Given the description of an element on the screen output the (x, y) to click on. 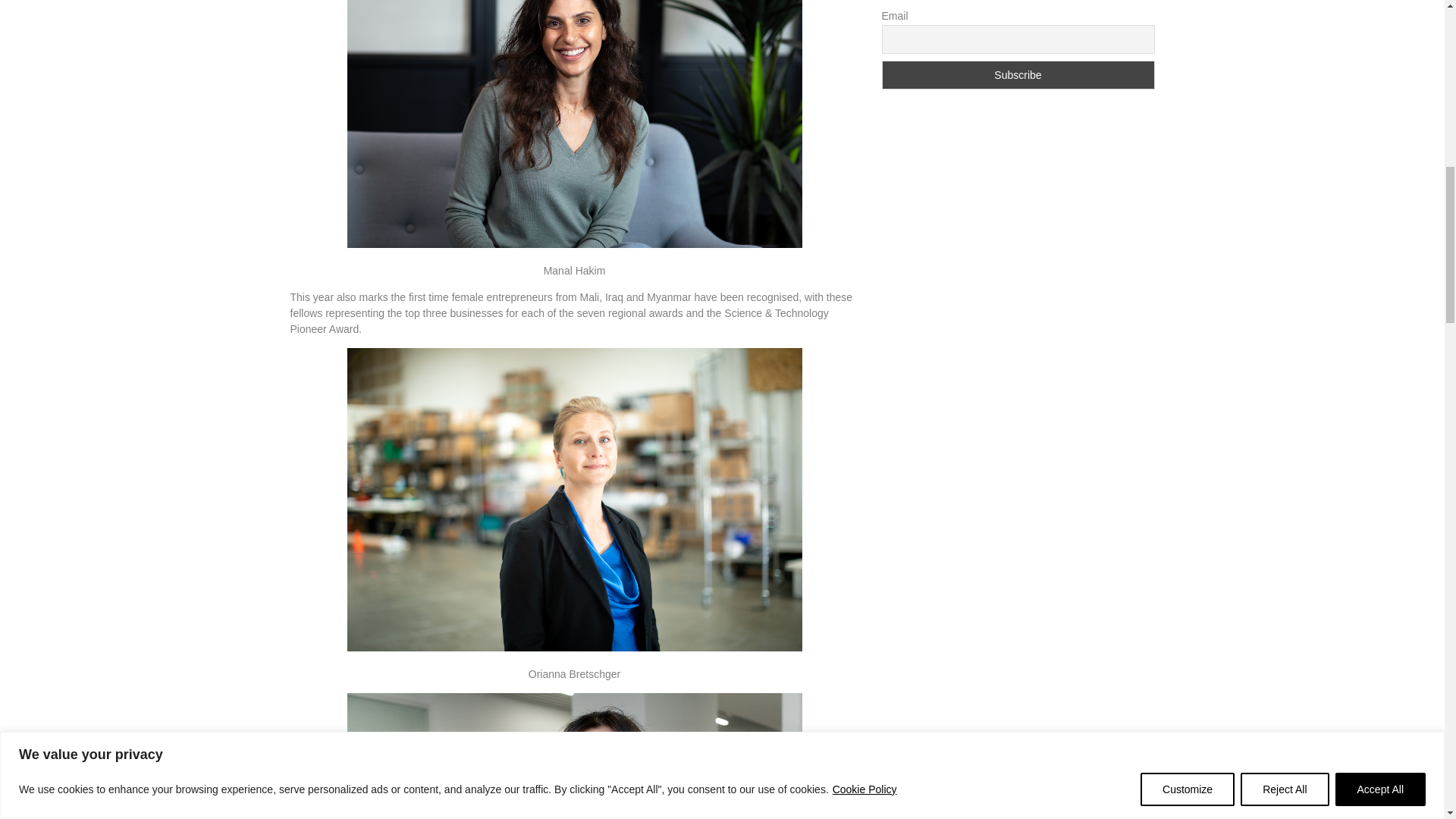
Subscribe (1017, 74)
